Given the description of an element on the screen output the (x, y) to click on. 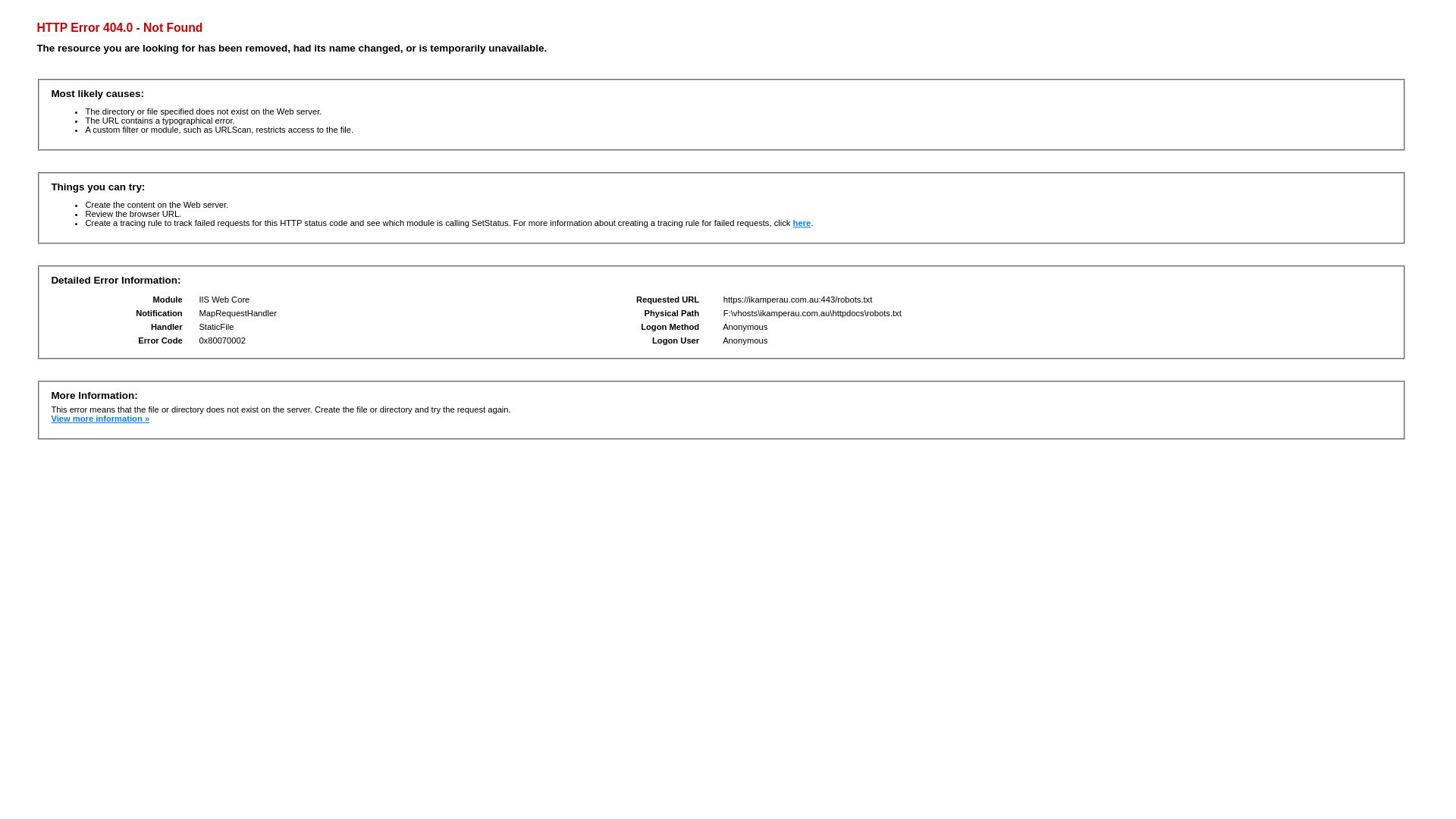
here Element type: text (802, 222)
